Given the description of an element on the screen output the (x, y) to click on. 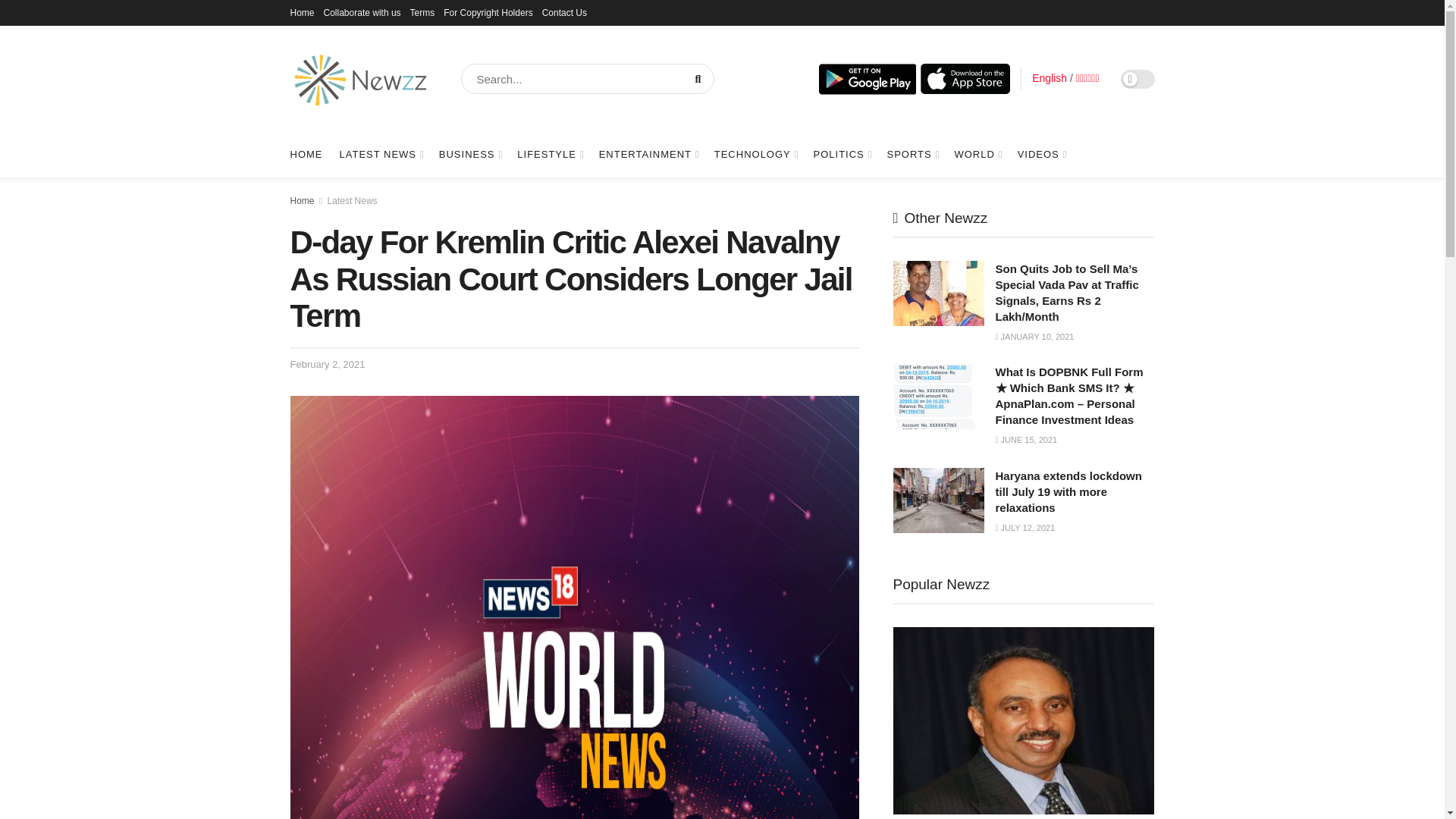
BUSINESS (469, 154)
Home (301, 12)
Terms (422, 12)
VIDEOS (1041, 154)
For Copyright Holders (488, 12)
TECHNOLOGY (755, 154)
LATEST NEWS (380, 154)
POLITICS (841, 154)
LIFESTYLE (548, 154)
SPORTS (911, 154)
English (1049, 78)
ENTERTAINMENT (647, 154)
Contact Us (563, 12)
Collaborate with us (362, 12)
WORLD (976, 154)
